Given the description of an element on the screen output the (x, y) to click on. 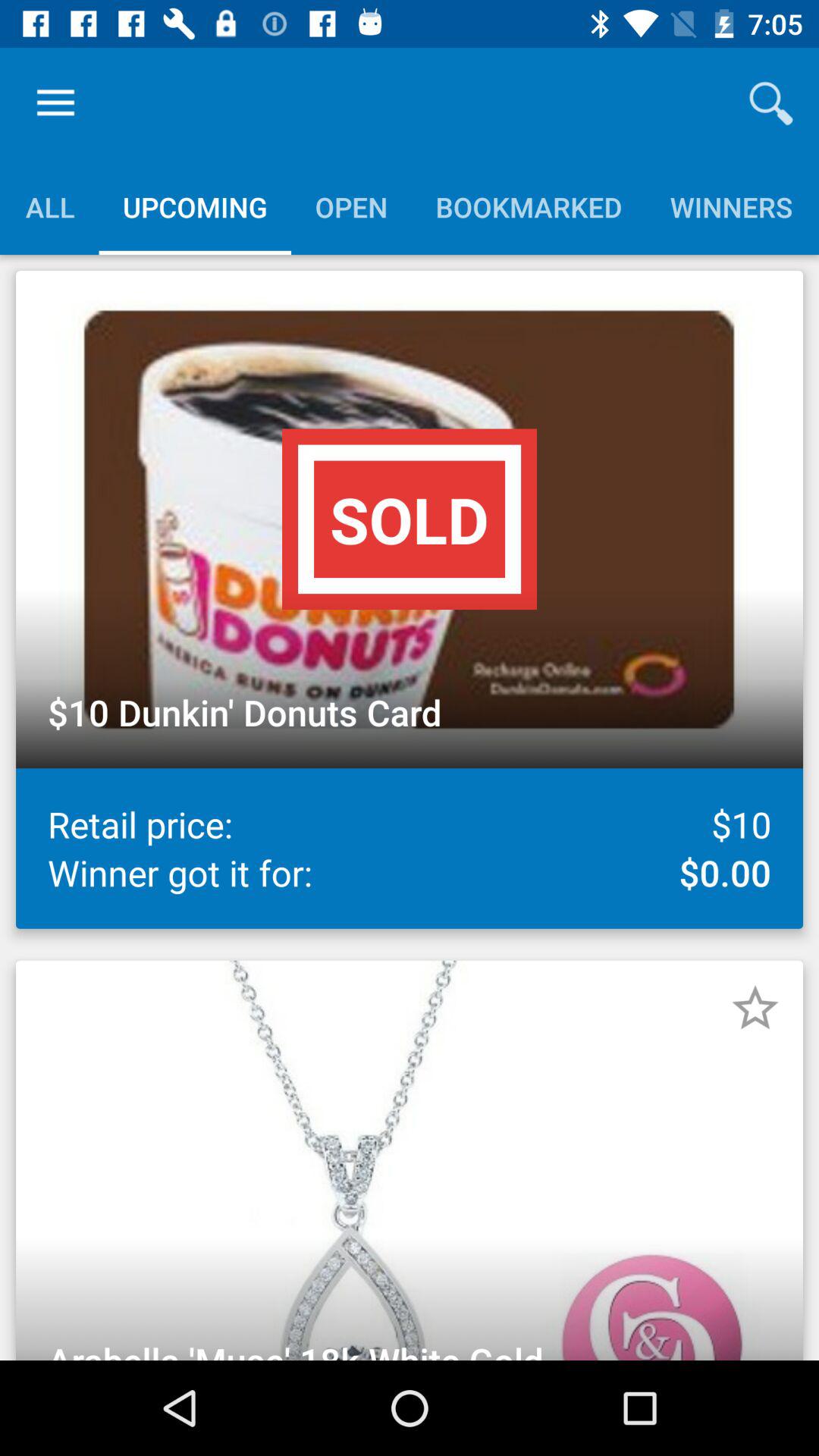
add to favorite (755, 1008)
